Given the description of an element on the screen output the (x, y) to click on. 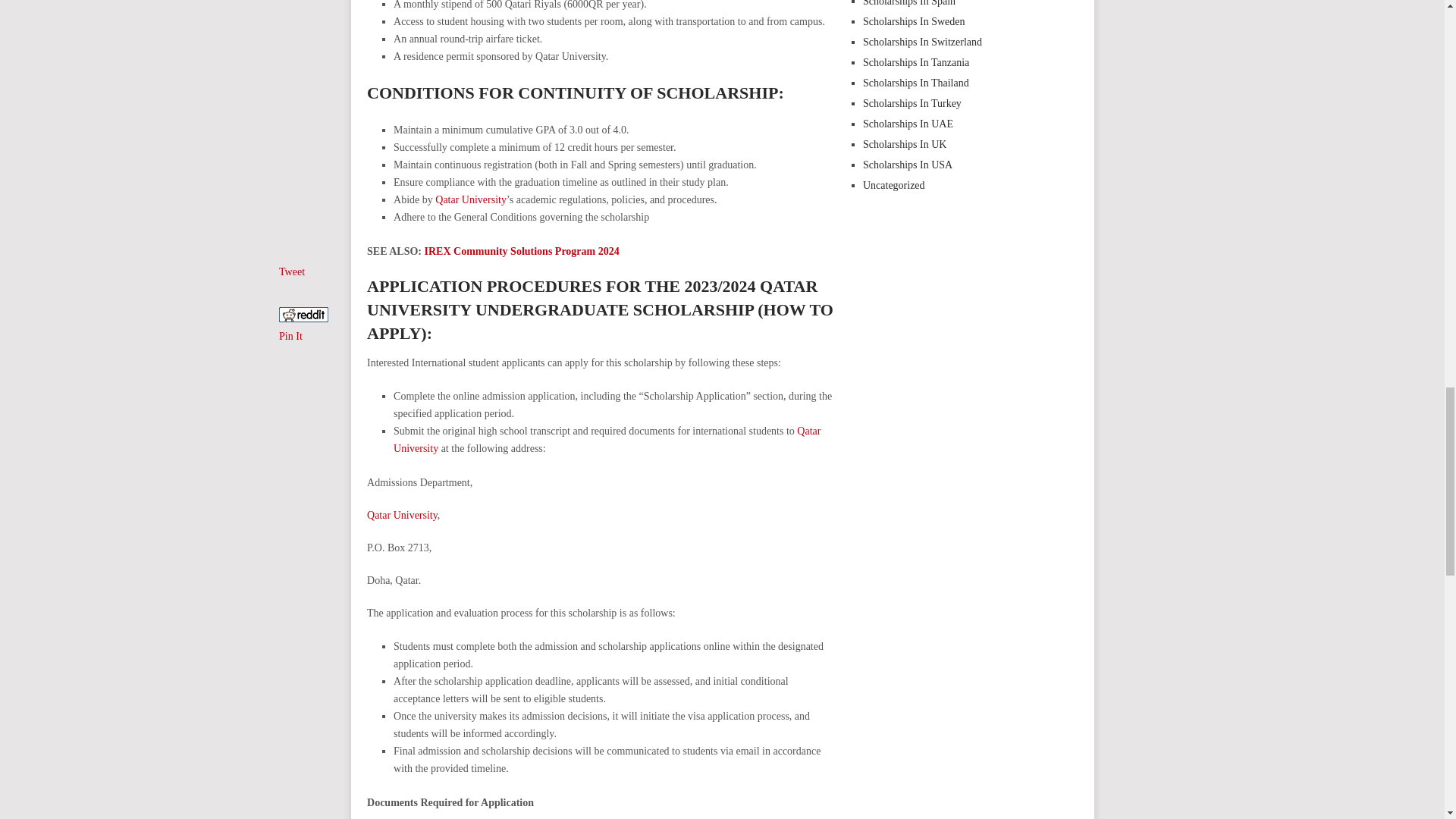
IREX Community Solutions Program 2024 (522, 251)
Qatar University (470, 199)
Qatar University (607, 439)
Qatar University (402, 514)
